Given the description of an element on the screen output the (x, y) to click on. 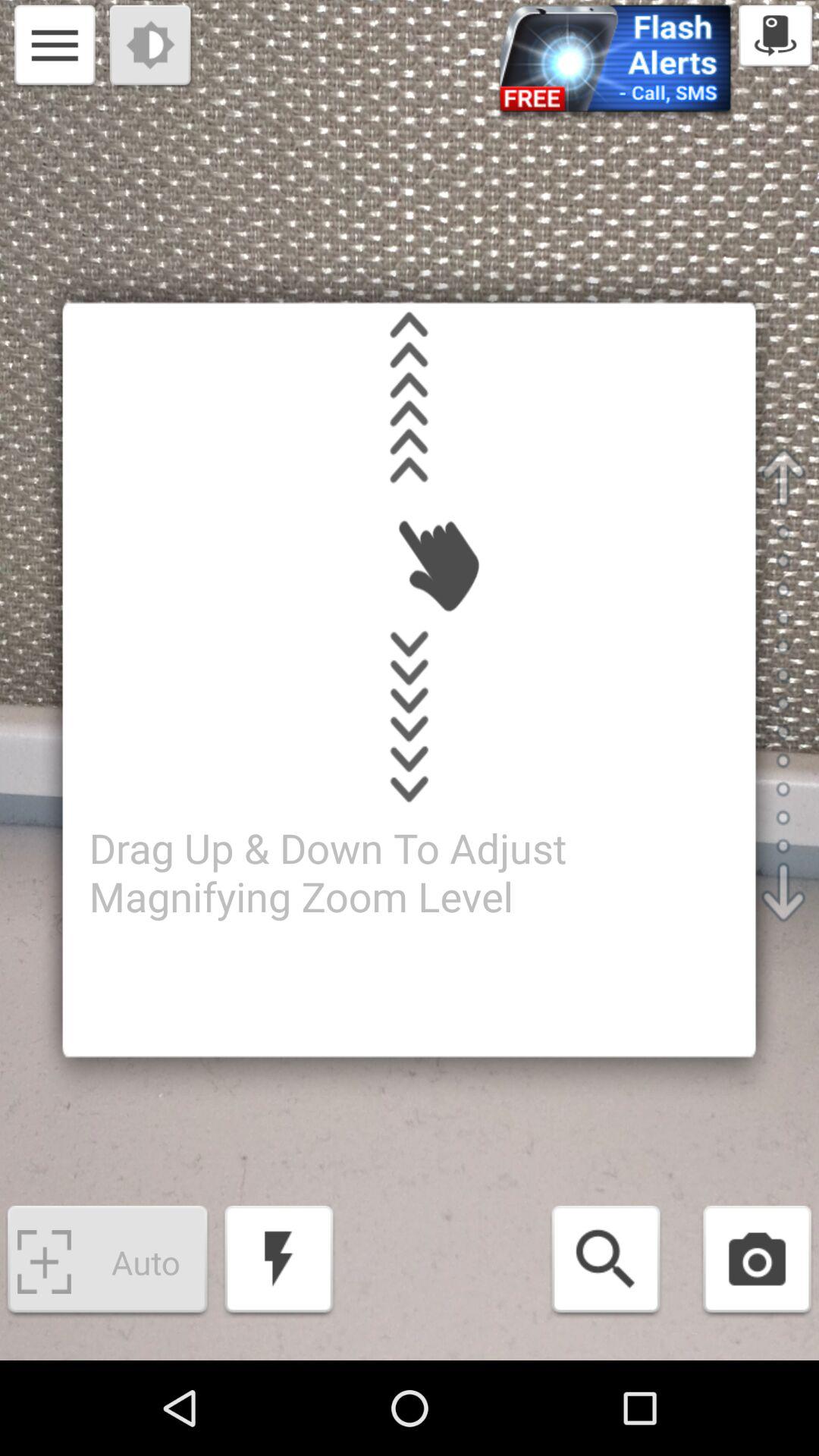
click on the icon which is at top right to the page (775, 37)
click on the blue colored label shown right to settings icon at the top of the page (614, 63)
click on the search button (605, 1262)
select flash icon (278, 1262)
select the bottom left button (106, 1262)
select the scroll bar (783, 684)
select drag up gesture (409, 397)
click on brightness icon (151, 47)
